Given the description of an element on the screen output the (x, y) to click on. 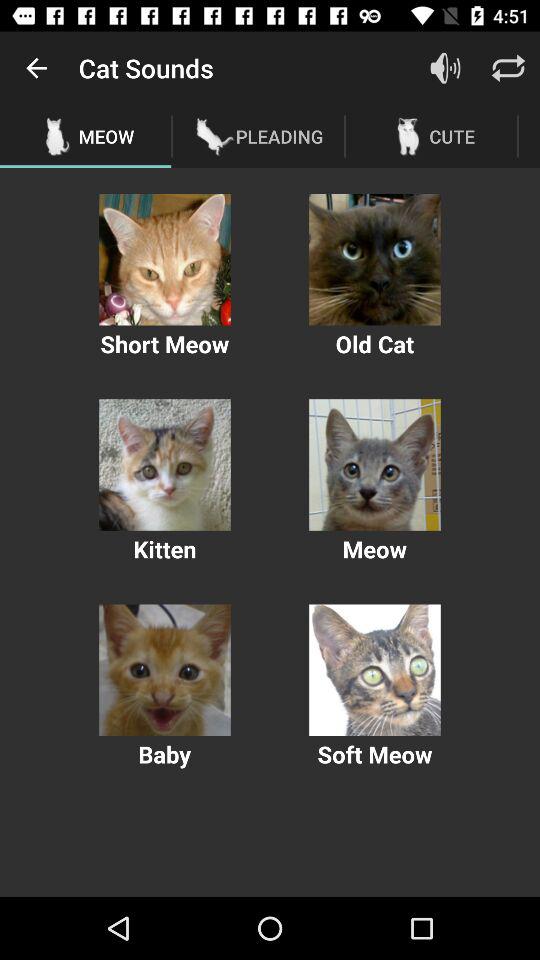
this button refreshes the page to show any new updates (508, 67)
